Given the description of an element on the screen output the (x, y) to click on. 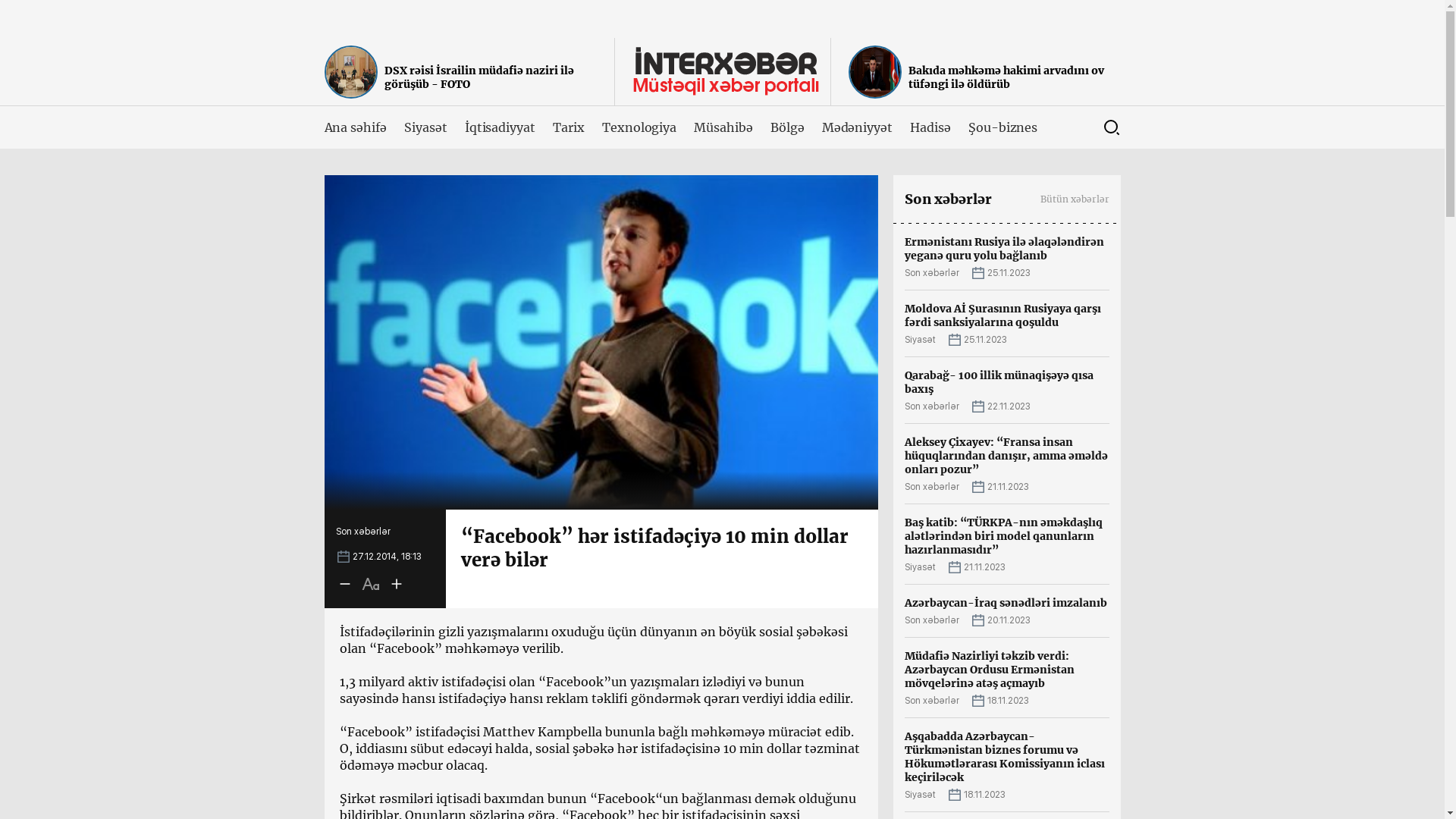
Tarix Element type: text (568, 127)
Texnologiya Element type: text (639, 127)
